Given the description of an element on the screen output the (x, y) to click on. 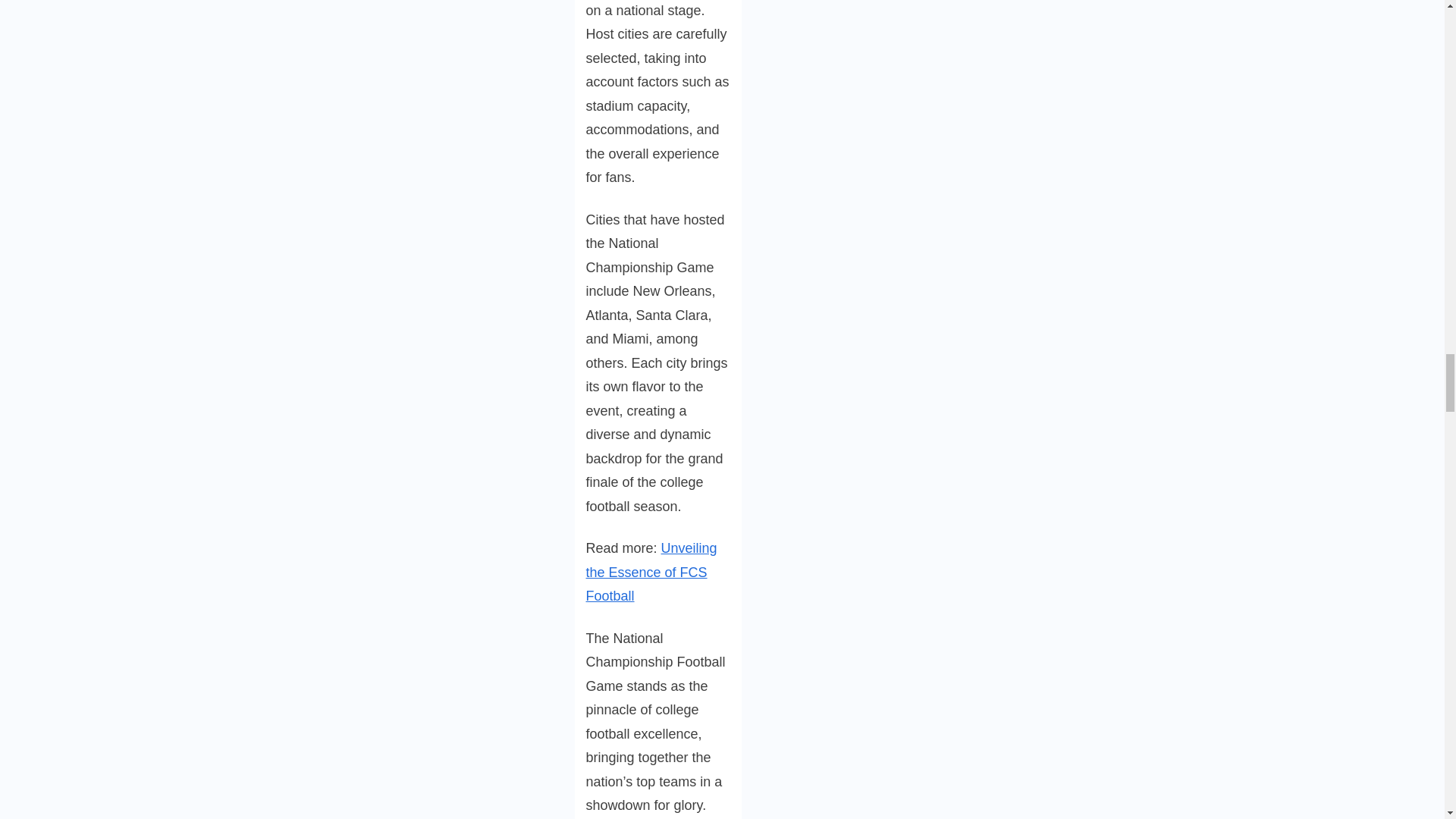
Unveiling the Essence of FCS Football (650, 571)
